Given the description of an element on the screen output the (x, y) to click on. 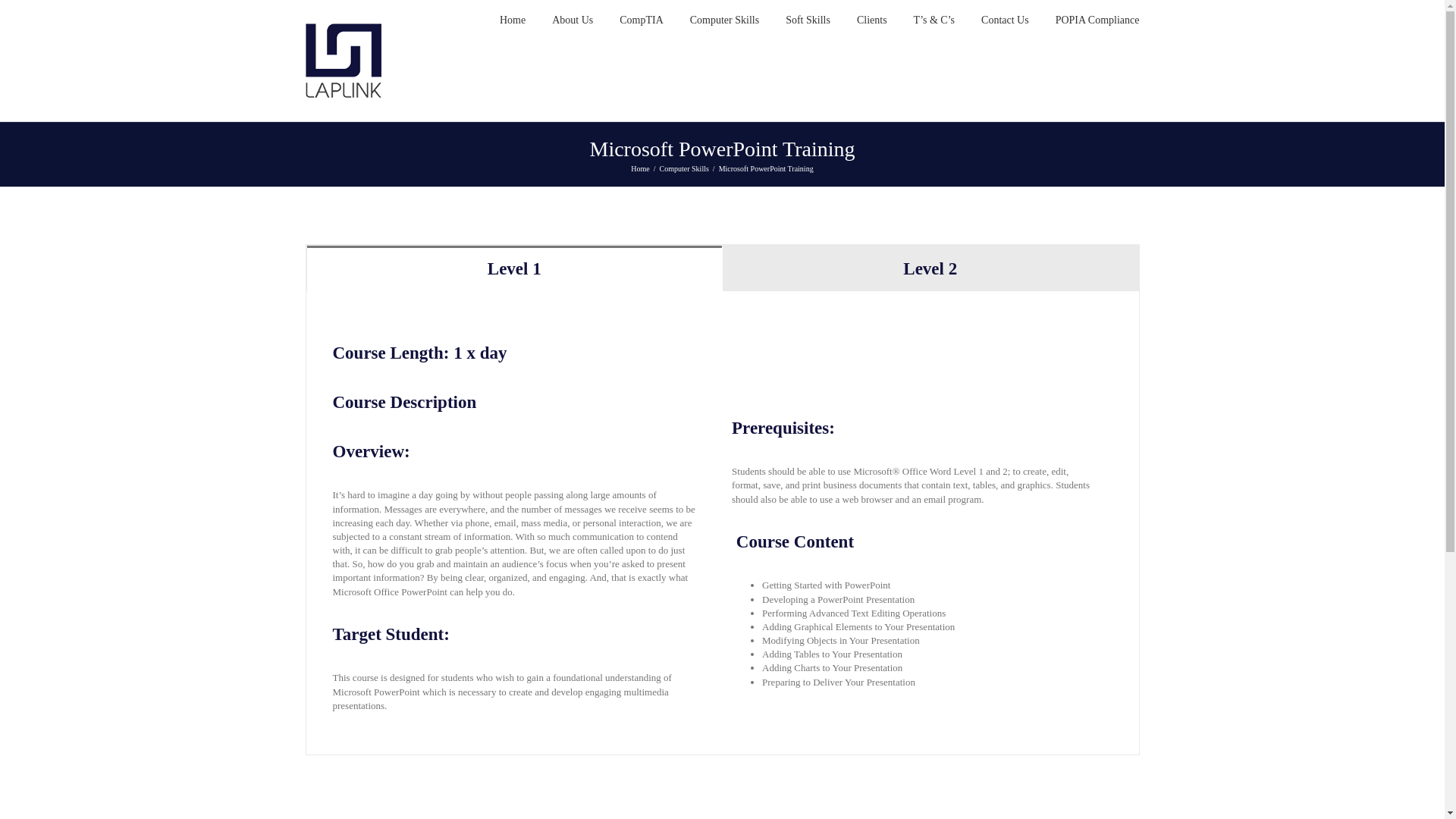
Home (639, 168)
Computer Skills (724, 18)
POPIA Compliance (1097, 18)
Computer Skills (684, 168)
Level 2 (930, 268)
Contact Us (1005, 18)
Soft Skills (807, 18)
Level 1 (513, 268)
About Us (571, 18)
CompTIA (641, 18)
